Given the description of an element on the screen output the (x, y) to click on. 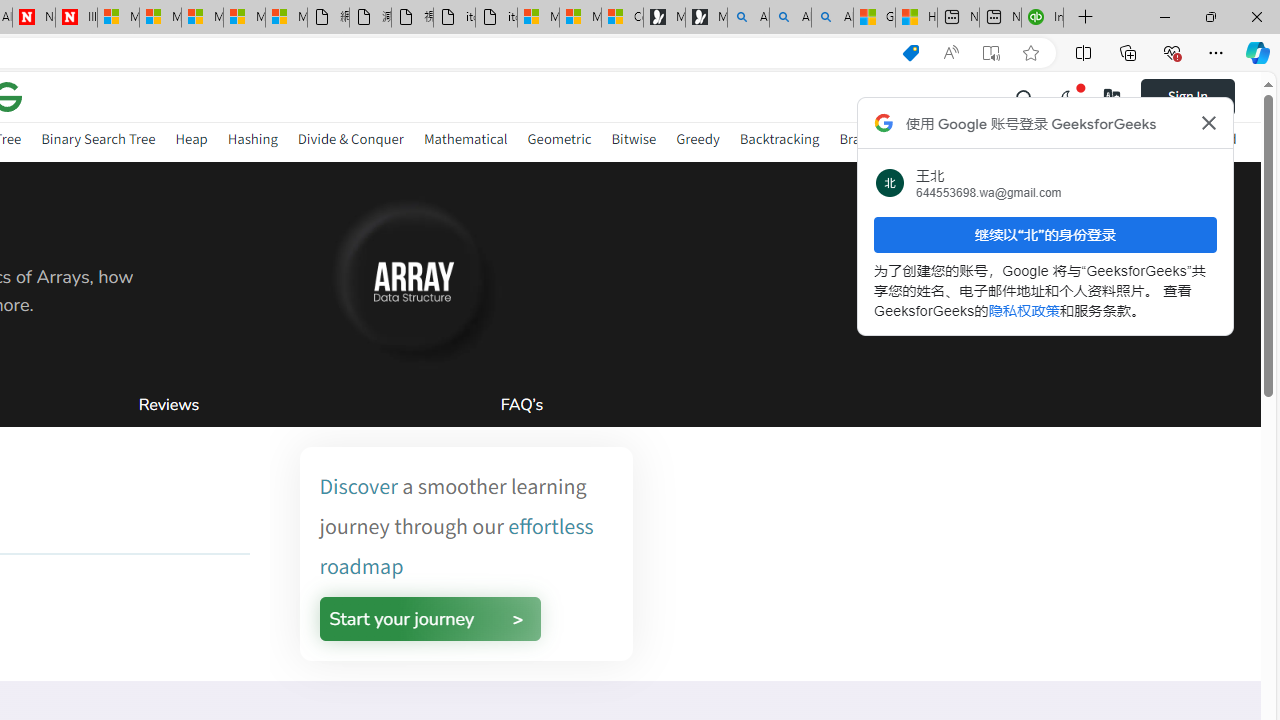
Pattern Searching (1085, 138)
Matrix (991, 138)
Mathematical (465, 138)
This site has coupons! Shopping in Microsoft Edge (910, 53)
AutomationID: gfg-nuj-heading-image (408, 277)
Alabama high school quarterback dies - Search (748, 17)
Backtracking (779, 138)
Heap (191, 138)
Newsweek - News, Analysis, Politics, Business, Technology (33, 17)
Divide & Conquer (349, 142)
